Given the description of an element on the screen output the (x, y) to click on. 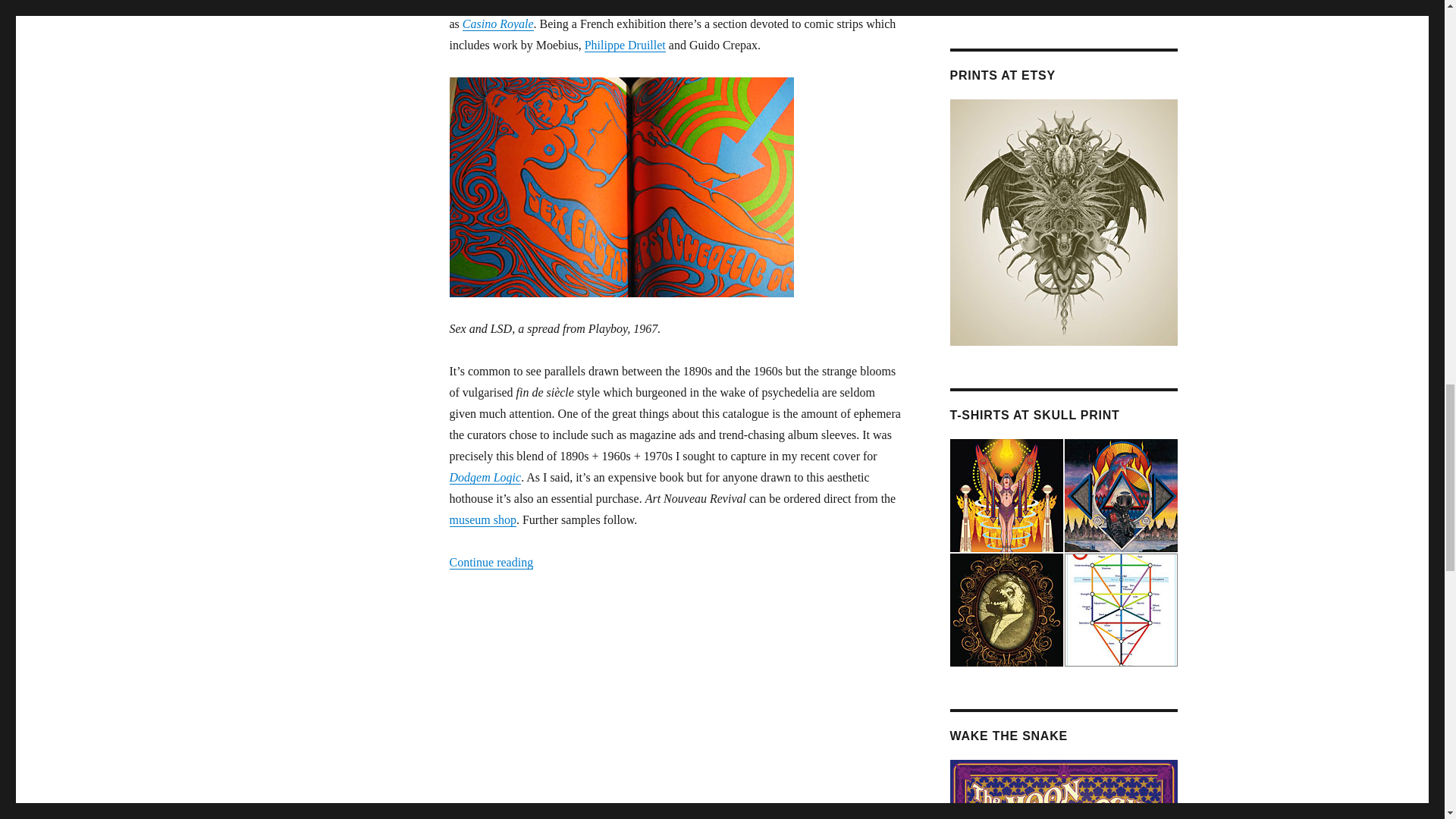
Philippe Druillet (625, 44)
museum shop (481, 519)
Dodgem Logic (484, 477)
Casino Royale (498, 23)
